Given the description of an element on the screen output the (x, y) to click on. 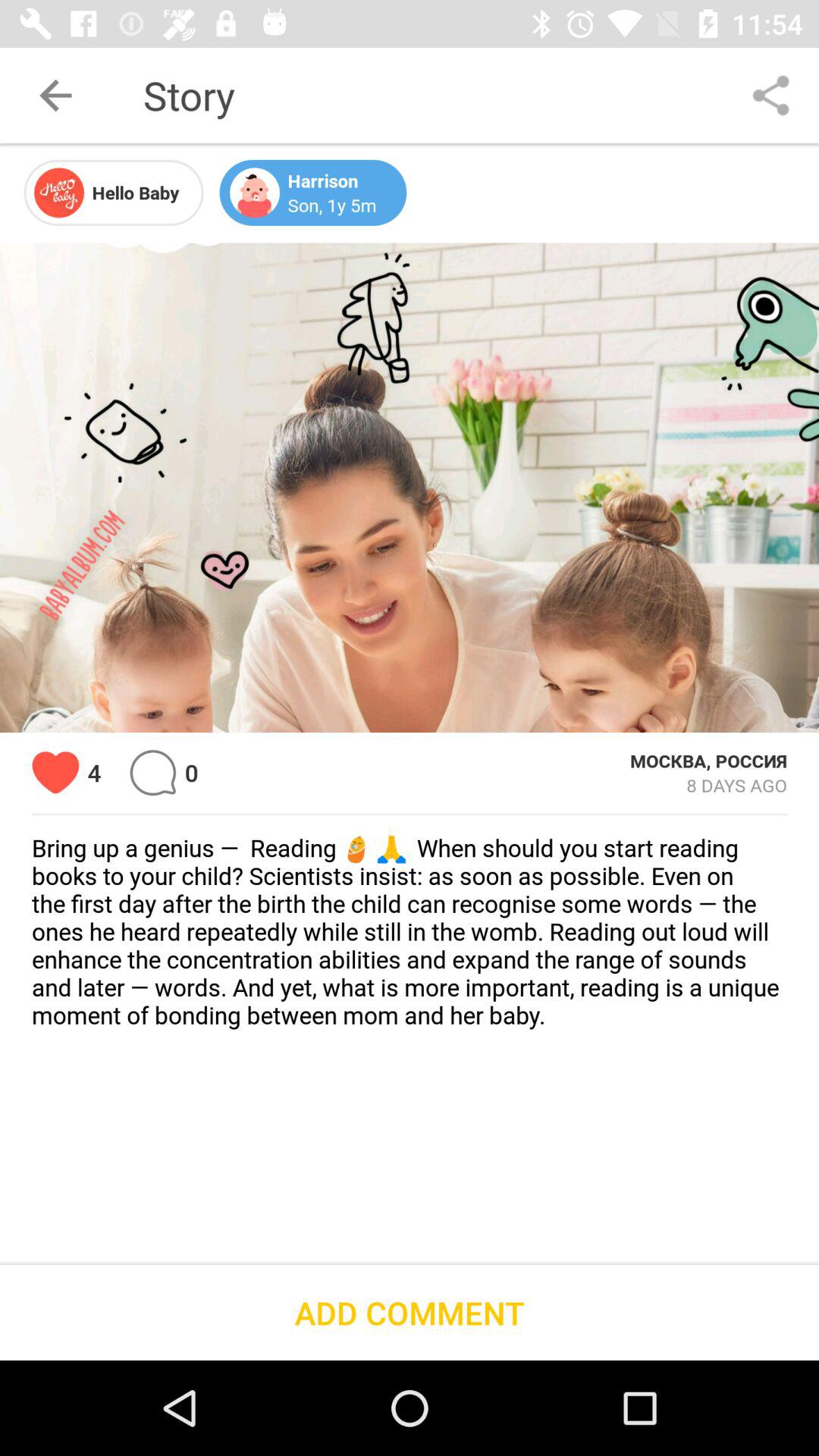
turn on icon to the left of 4 (55, 772)
